Given the description of an element on the screen output the (x, y) to click on. 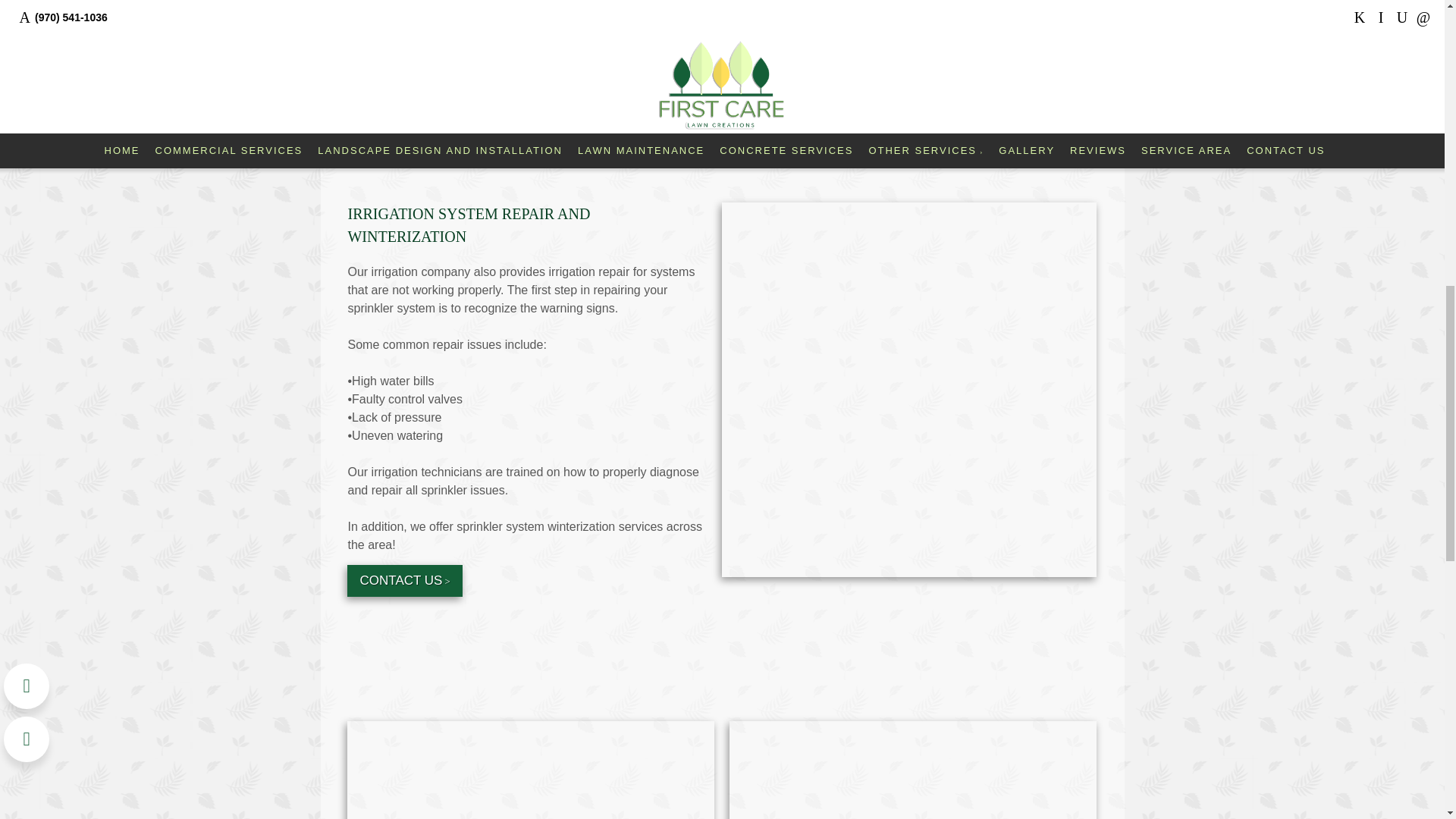
CONTACT US (404, 581)
